Given the description of an element on the screen output the (x, y) to click on. 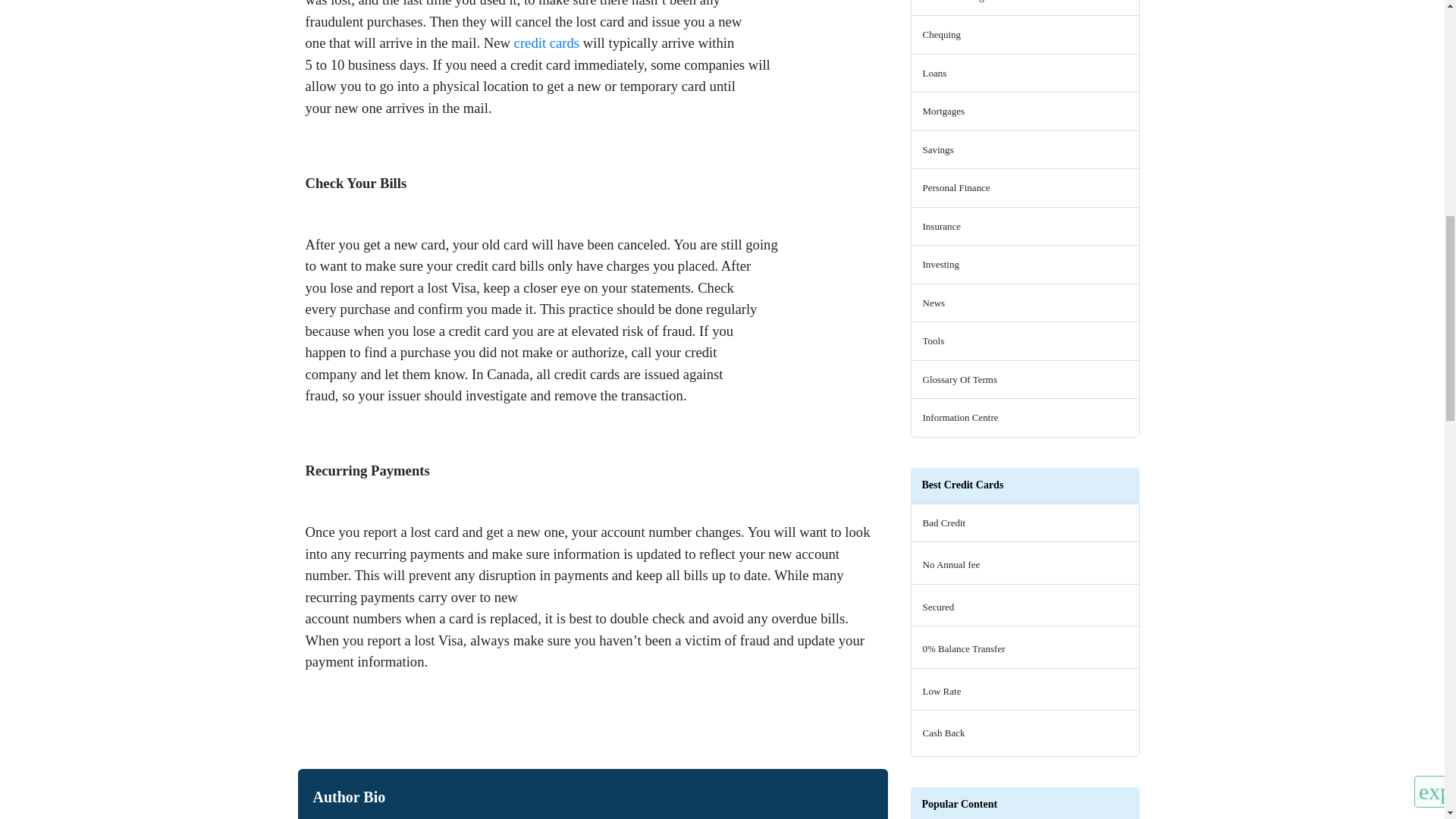
credit cards (546, 42)
